Given the description of an element on the screen output the (x, y) to click on. 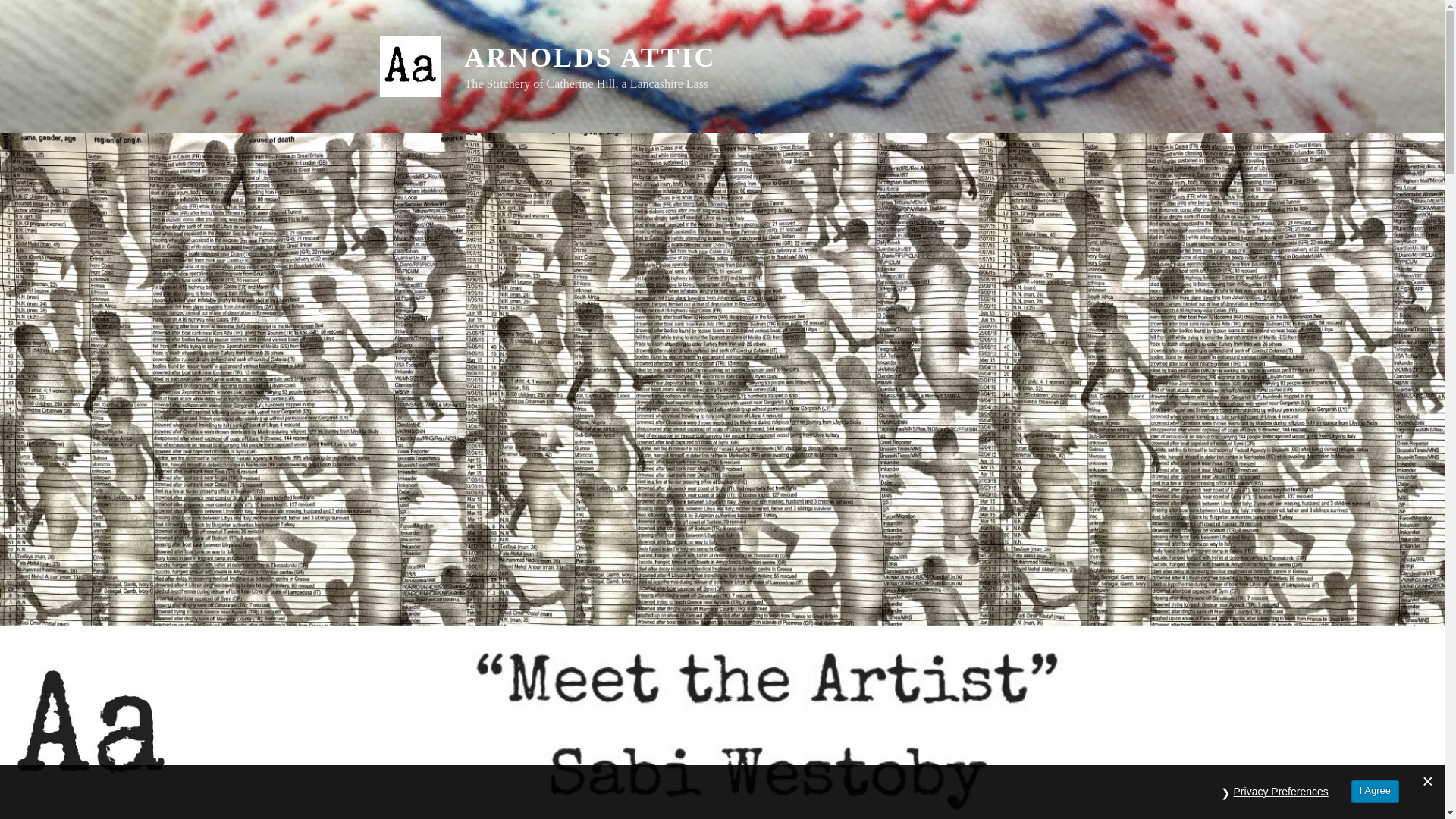
ARNOLDS ATTIC (590, 57)
